Given the description of an element on the screen output the (x, y) to click on. 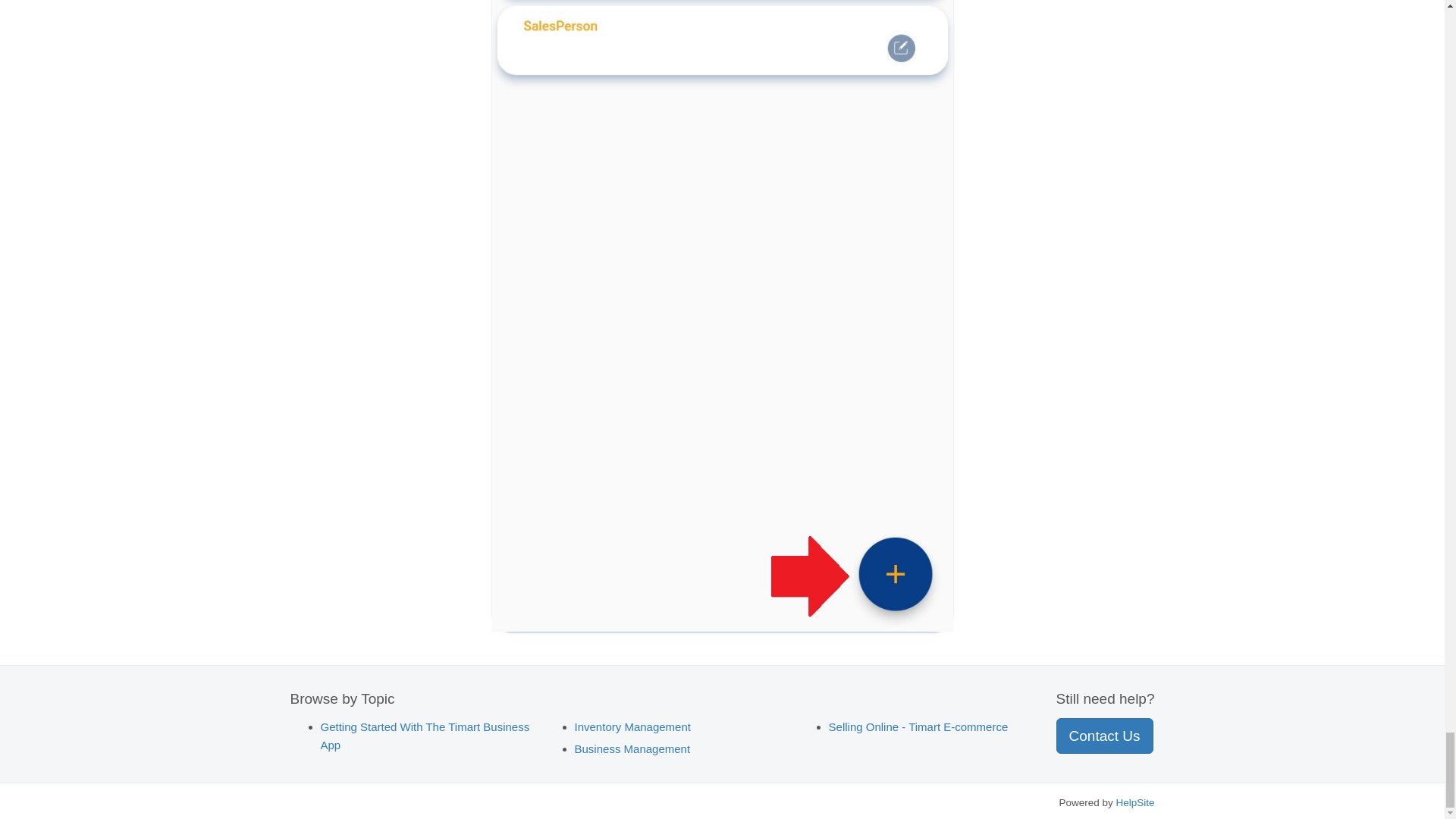
Contact Us (1105, 735)
Business Management (632, 748)
Selling Online - Timart E-commerce (918, 726)
Inventory Management (632, 726)
Getting Started With The Timart Business App (424, 735)
HelpSite (1134, 802)
